Given the description of an element on the screen output the (x, y) to click on. 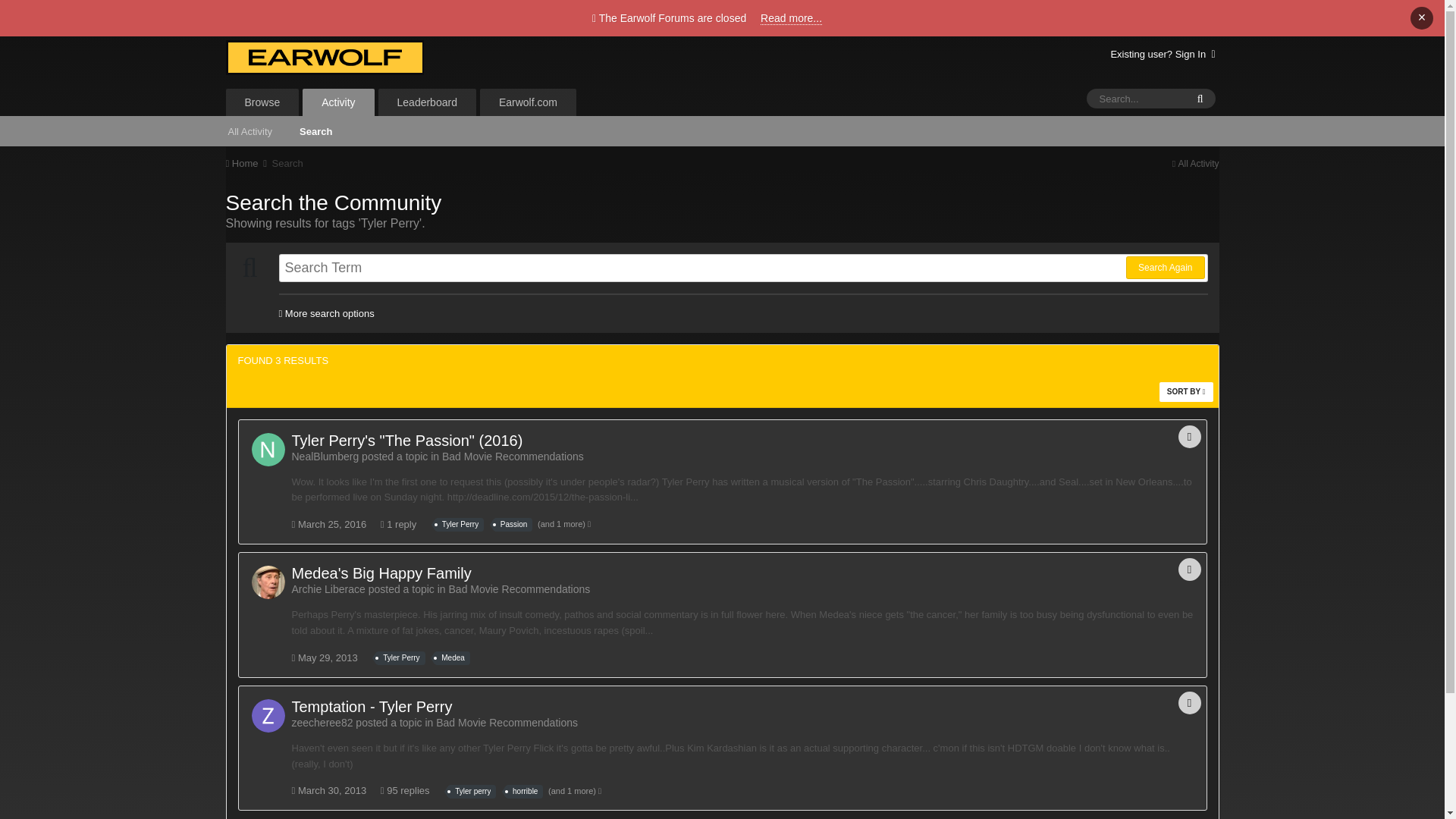
Earwolf.com (528, 102)
Browse (262, 102)
Topic (1189, 702)
All Activity (1196, 163)
Find other content tagged with 'Medea' (452, 658)
Topic (1189, 436)
Go to NealBlumberg's profile (268, 449)
Search (315, 130)
Find other content tagged with 'Tyler Perry' (401, 658)
More search options (326, 313)
Search Again (1164, 267)
Find other content tagged with 'Passion' (513, 524)
Search (287, 163)
Find other content tagged with 'Tyler Perry' (459, 524)
Leaderboard (427, 102)
